Given the description of an element on the screen output the (x, y) to click on. 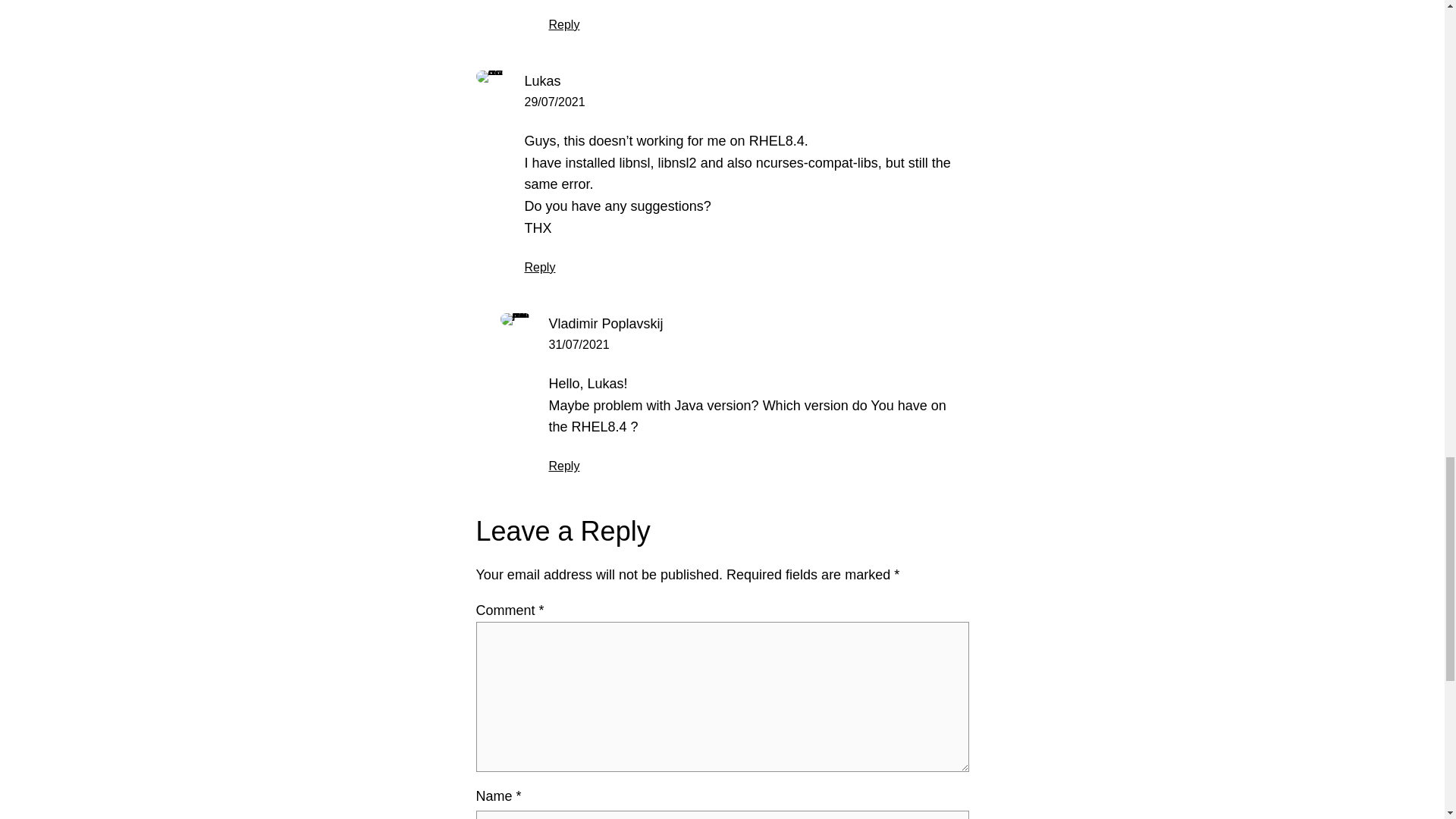
Reply (563, 465)
Reply (563, 24)
Reply (540, 267)
